Given the description of an element on the screen output the (x, y) to click on. 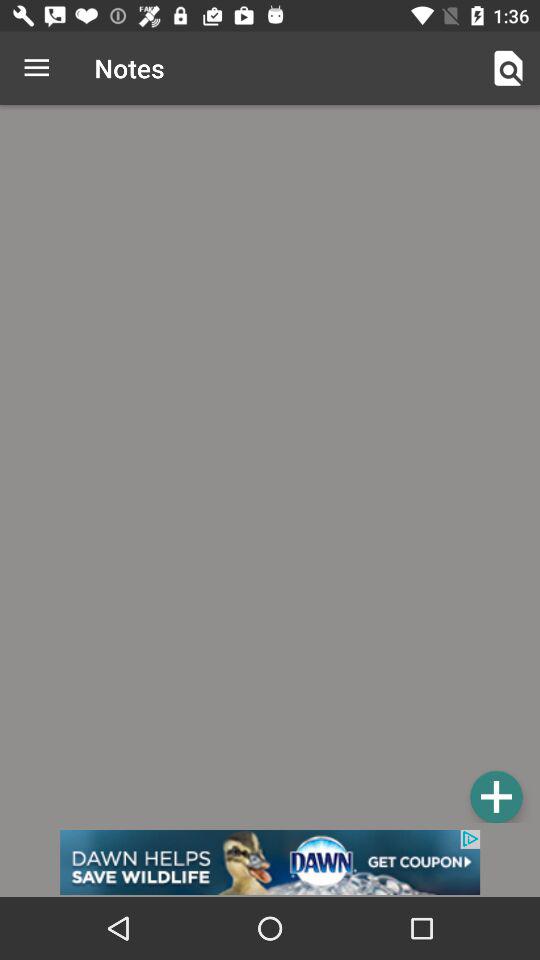
adversitment (270, 861)
